Given the description of an element on the screen output the (x, y) to click on. 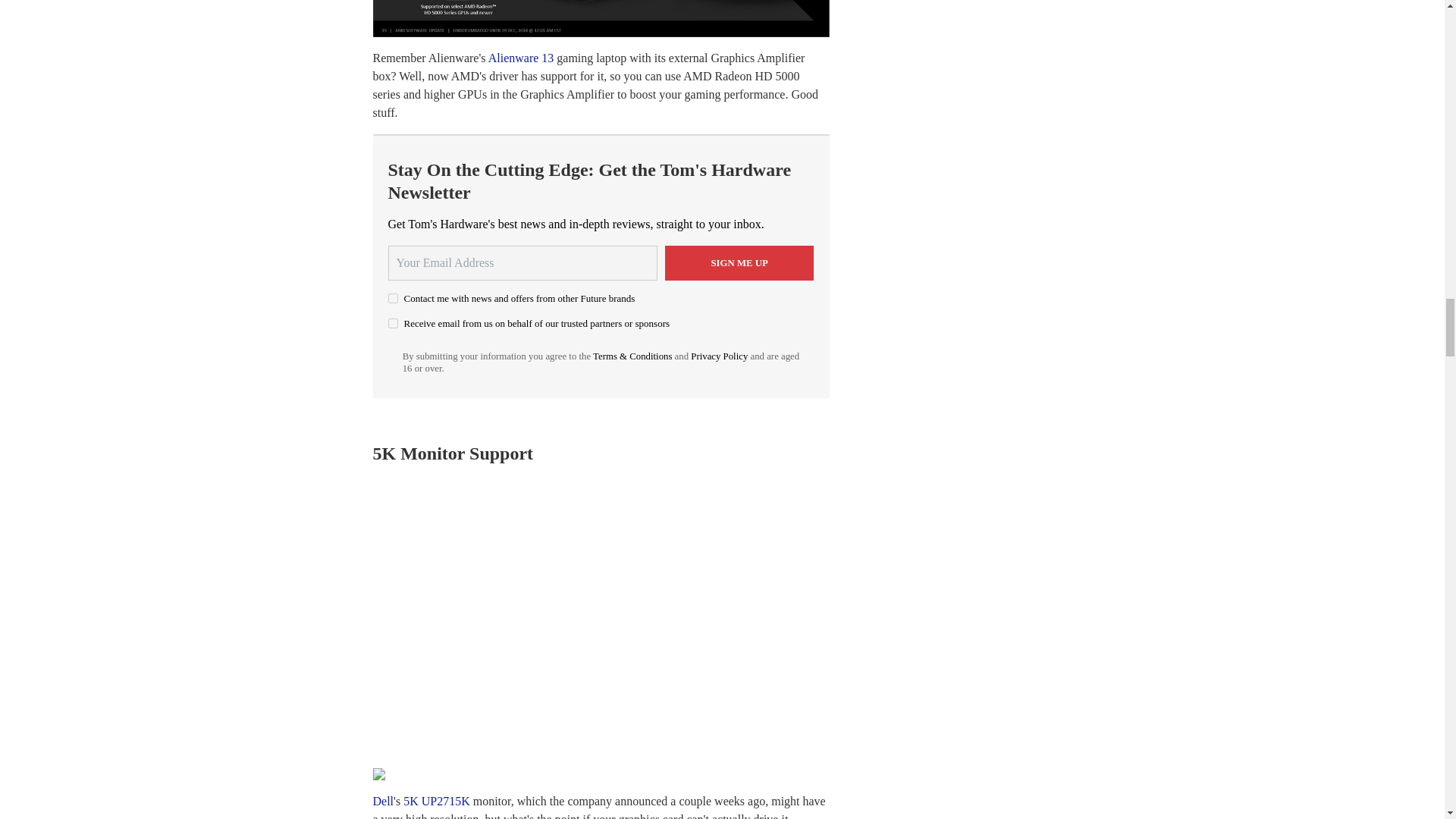
on (392, 298)
Sign me up (739, 262)
on (392, 323)
